Given the description of an element on the screen output the (x, y) to click on. 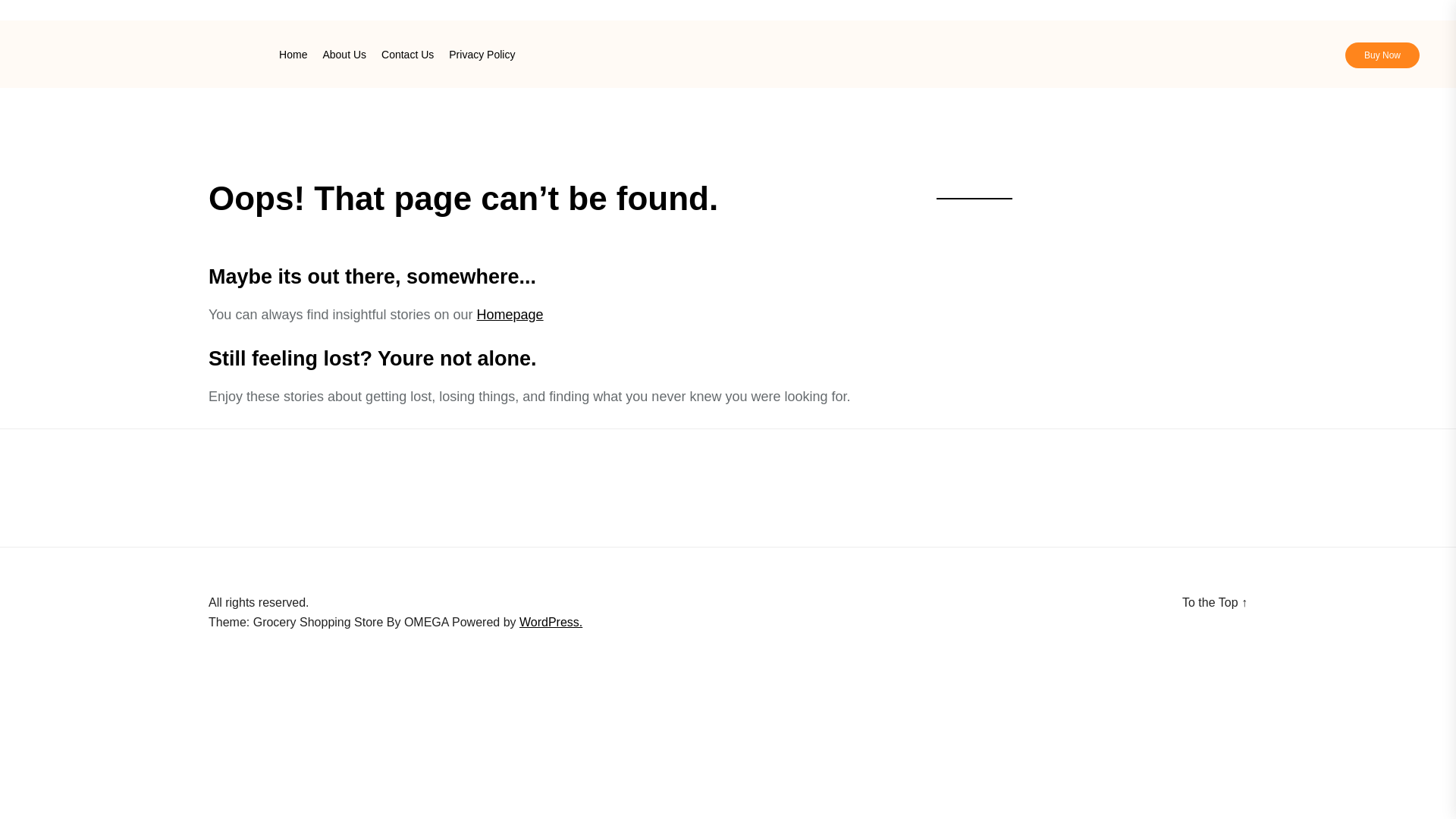
WordPress (550, 621)
Home (293, 54)
WordPress. (550, 621)
About Us (343, 54)
Contact Us (407, 54)
Homepage (510, 314)
Buy Now (1382, 54)
Privacy Policy (481, 54)
